Given the description of an element on the screen output the (x, y) to click on. 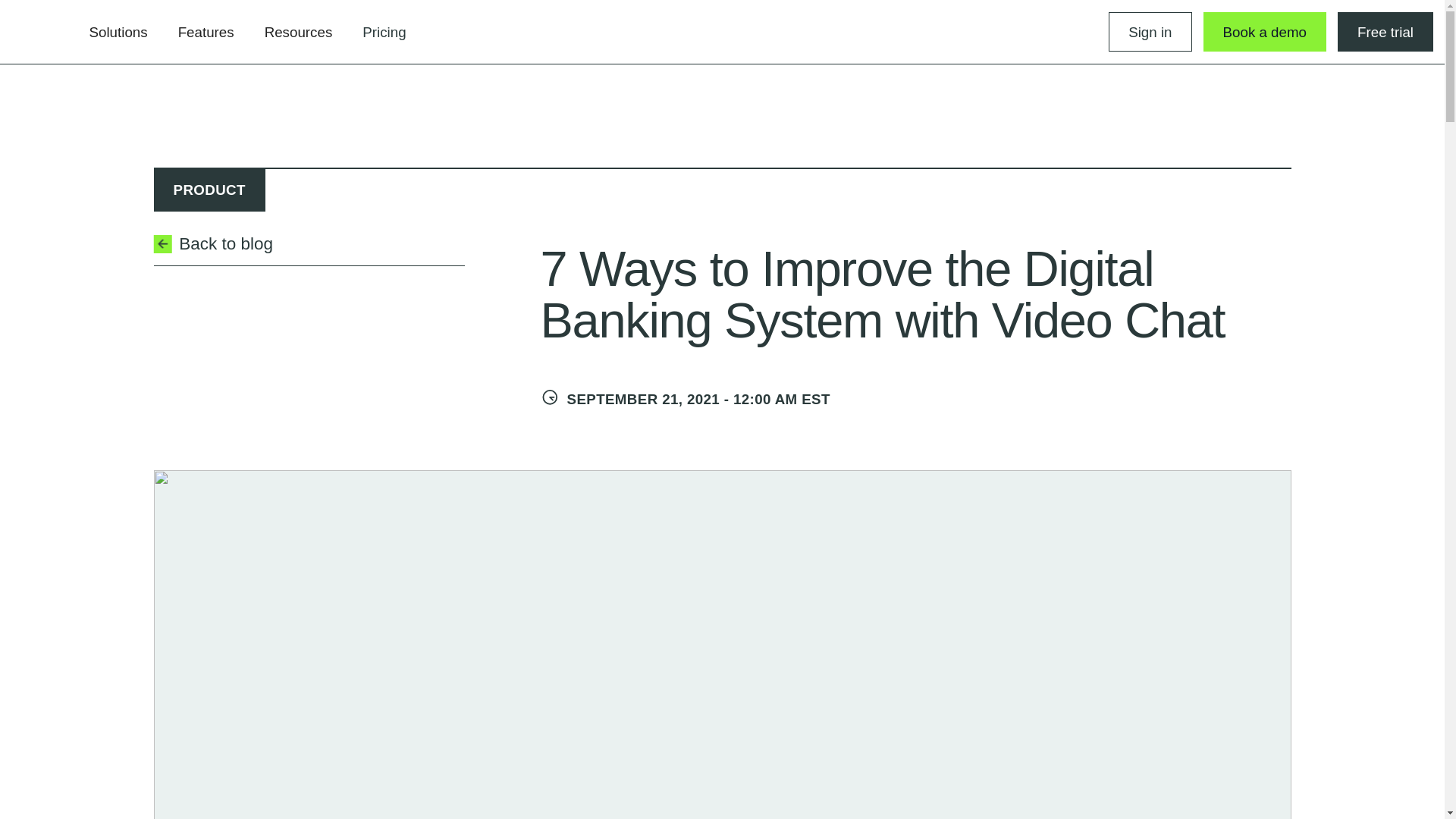
Pricing (384, 32)
Back to blog (308, 247)
Book a demo (1265, 32)
Sign in (1149, 32)
Free trial (1385, 32)
